Given the description of an element on the screen output the (x, y) to click on. 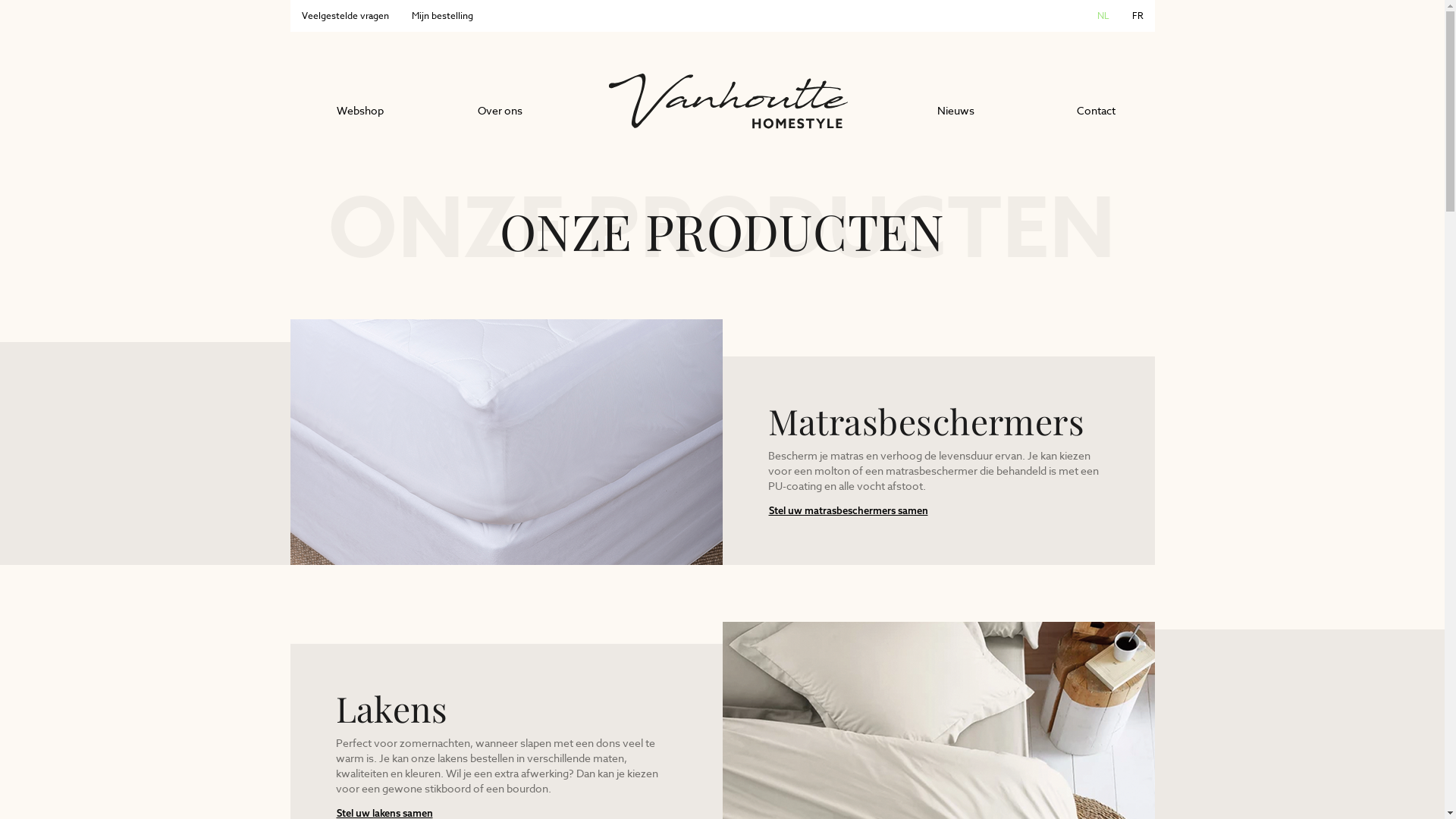
Over ons Element type: text (499, 110)
Veelgestelde vragen Element type: text (344, 15)
NL Element type: text (1102, 15)
Webshop Element type: text (359, 110)
Mijn bestelling Element type: text (442, 15)
Stel uw matrasbeschermers samen Element type: text (847, 510)
Contact Element type: text (1096, 110)
Vanhoutte Homestyle Element type: text (727, 102)
FR Element type: text (1137, 15)
Nieuws Element type: text (955, 110)
